Given the description of an element on the screen output the (x, y) to click on. 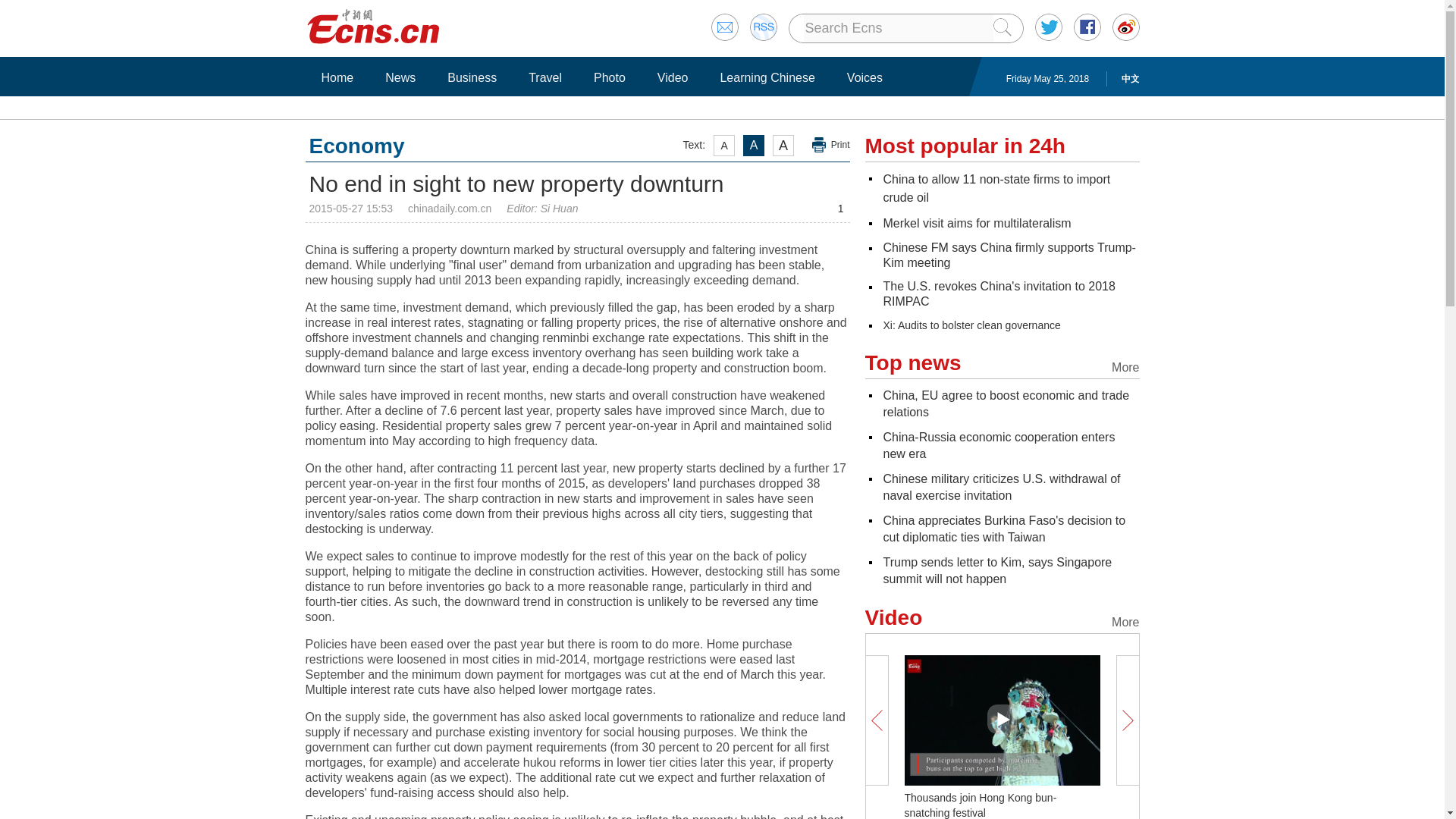
Merkel visit aims for multilateralism (976, 223)
Print (831, 144)
Home (337, 77)
Travel (544, 77)
Voices (864, 77)
News (400, 77)
Business (472, 77)
Photo (609, 77)
The U.S. revokes China's invitation to 2018 RIMPAC (998, 293)
Search Ecns (897, 27)
Learning Chinese (766, 77)
Video (673, 77)
China to allow 11 non-state firms to import crude oil (995, 187)
Xi: Audits to bolster clean governance (970, 325)
Chinese FM says China firmly supports Trump-Kim meeting (1008, 254)
